Given the description of an element on the screen output the (x, y) to click on. 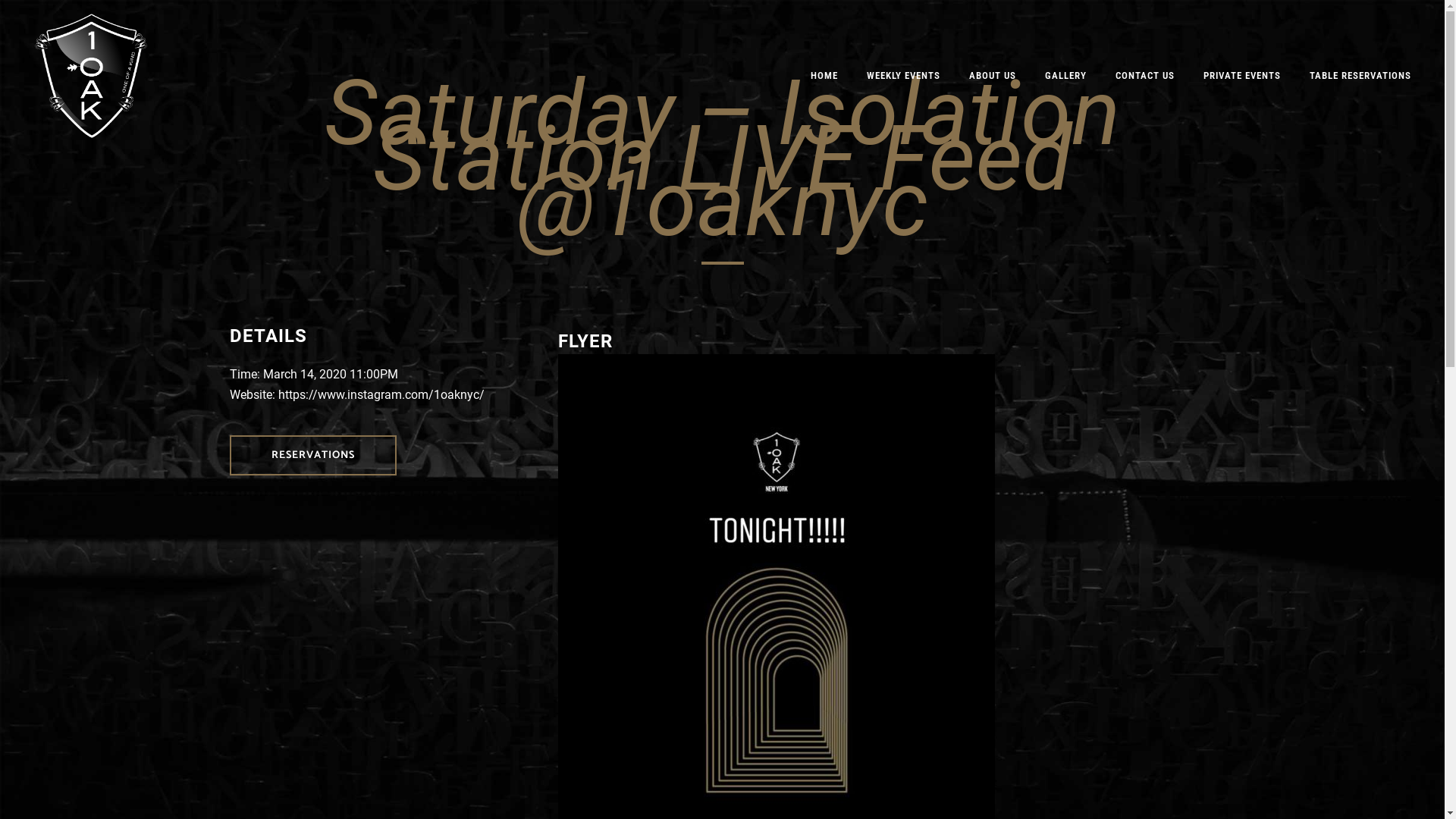
TABLE RESERVATIONS Element type: text (1360, 75)
HOME Element type: text (824, 75)
ABOUT US Element type: text (992, 75)
WEEKLY EVENTS Element type: text (903, 75)
CONTACT US Element type: text (1145, 75)
RESERVATIONS Element type: text (312, 455)
PRIVATE EVENTS Element type: text (1242, 75)
https://www.instagram.com/1oaknyc/ Element type: text (380, 394)
GALLERY Element type: text (1065, 75)
